Given the description of an element on the screen output the (x, y) to click on. 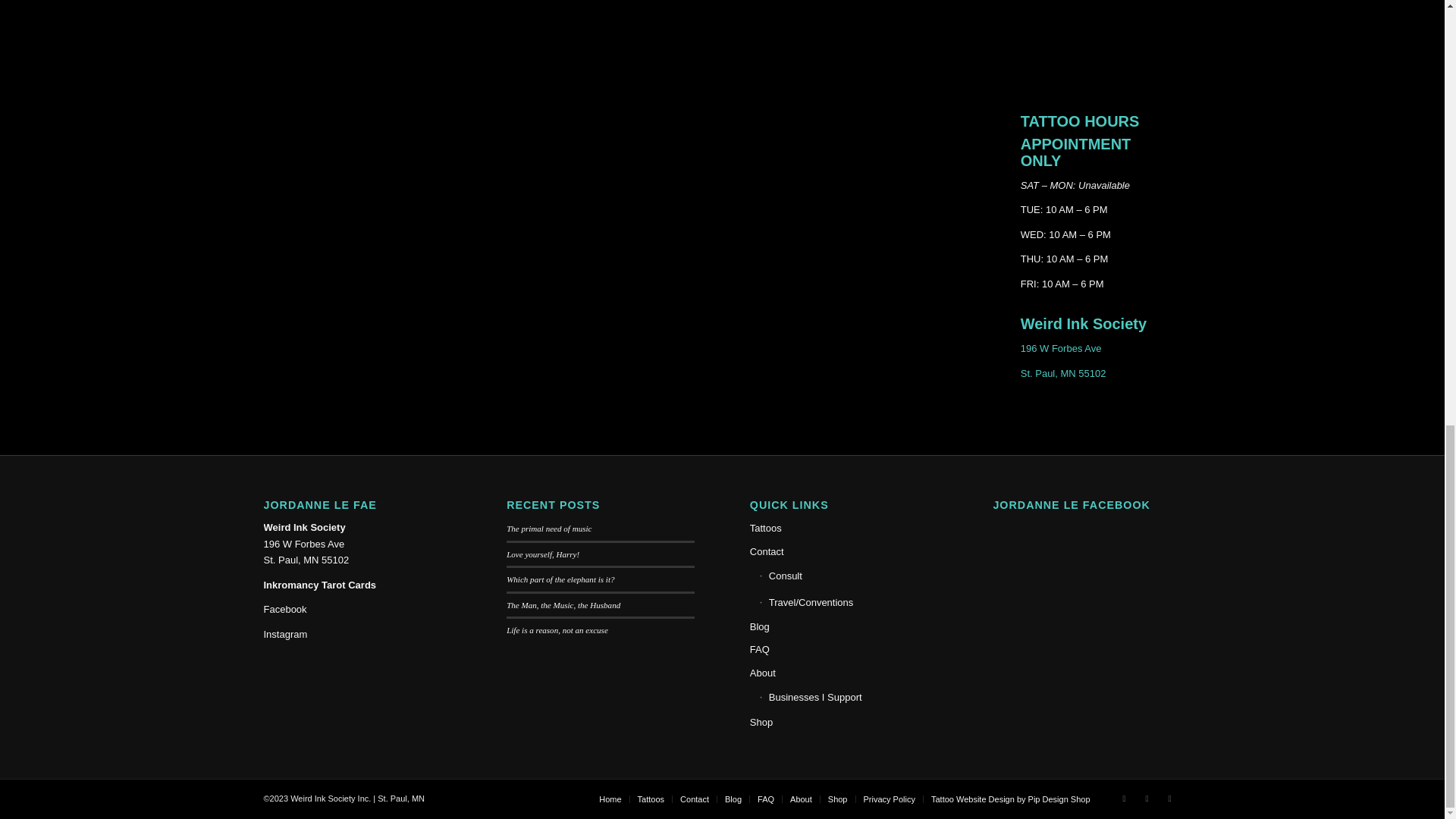
APPOINTMENT ONLY (1075, 151)
The Man, the Music, the Husband (563, 604)
Tattoos (843, 527)
Weird Ink Society (304, 527)
Weird Ink Society (1083, 323)
Inkromancy Tarot Cards (320, 584)
196 W Forbes Ave (1061, 348)
The primal need of music (548, 528)
Facebook (1124, 798)
196 W Forbes Ave (304, 543)
Love yourself, Harry! (542, 553)
Instagram (1146, 798)
Instagram (285, 633)
Facebook (285, 609)
St. Paul, MN 55102 (1063, 373)
